Given the description of an element on the screen output the (x, y) to click on. 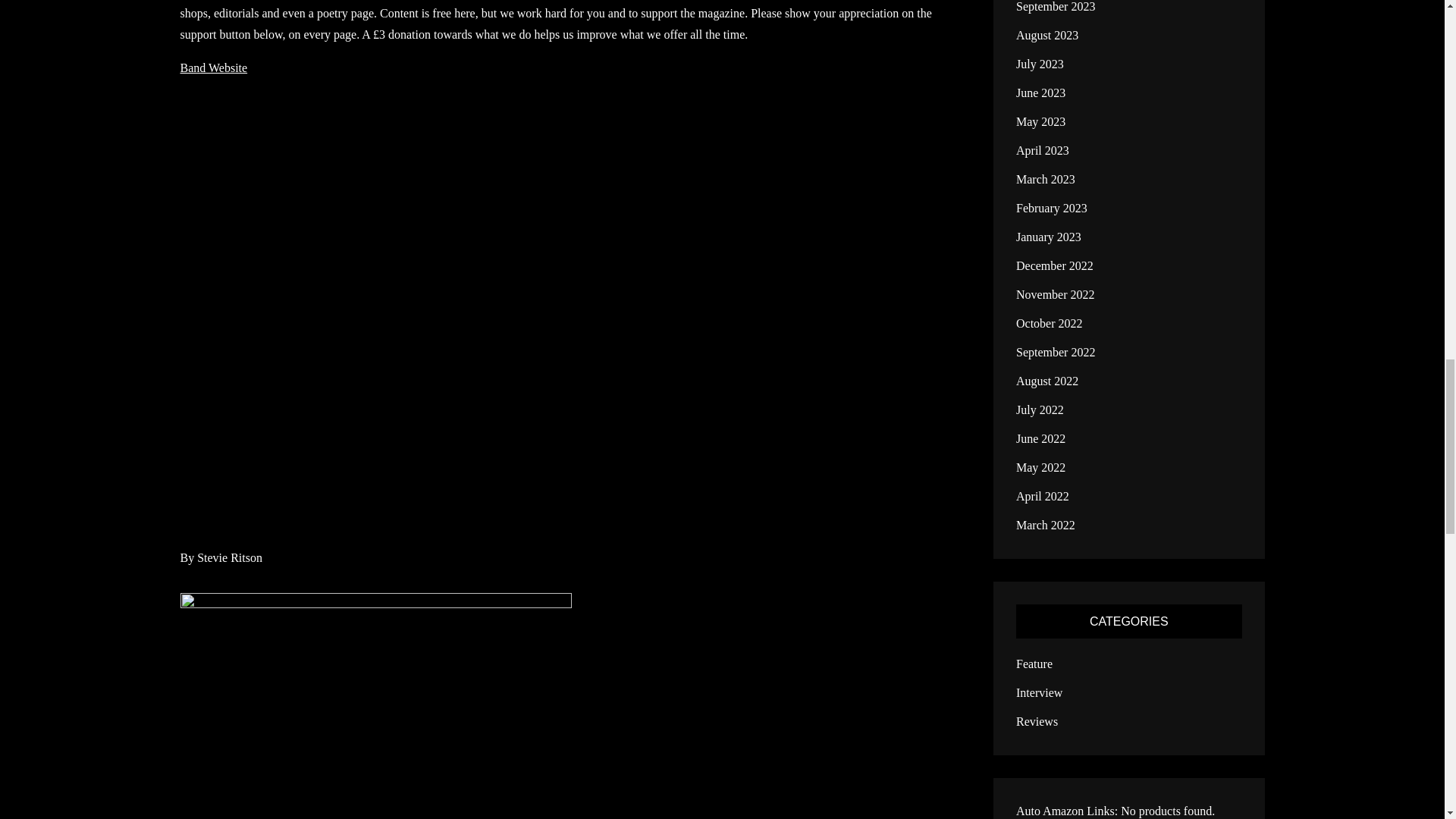
Band Website (213, 67)
Band Website (213, 67)
